Given the description of an element on the screen output the (x, y) to click on. 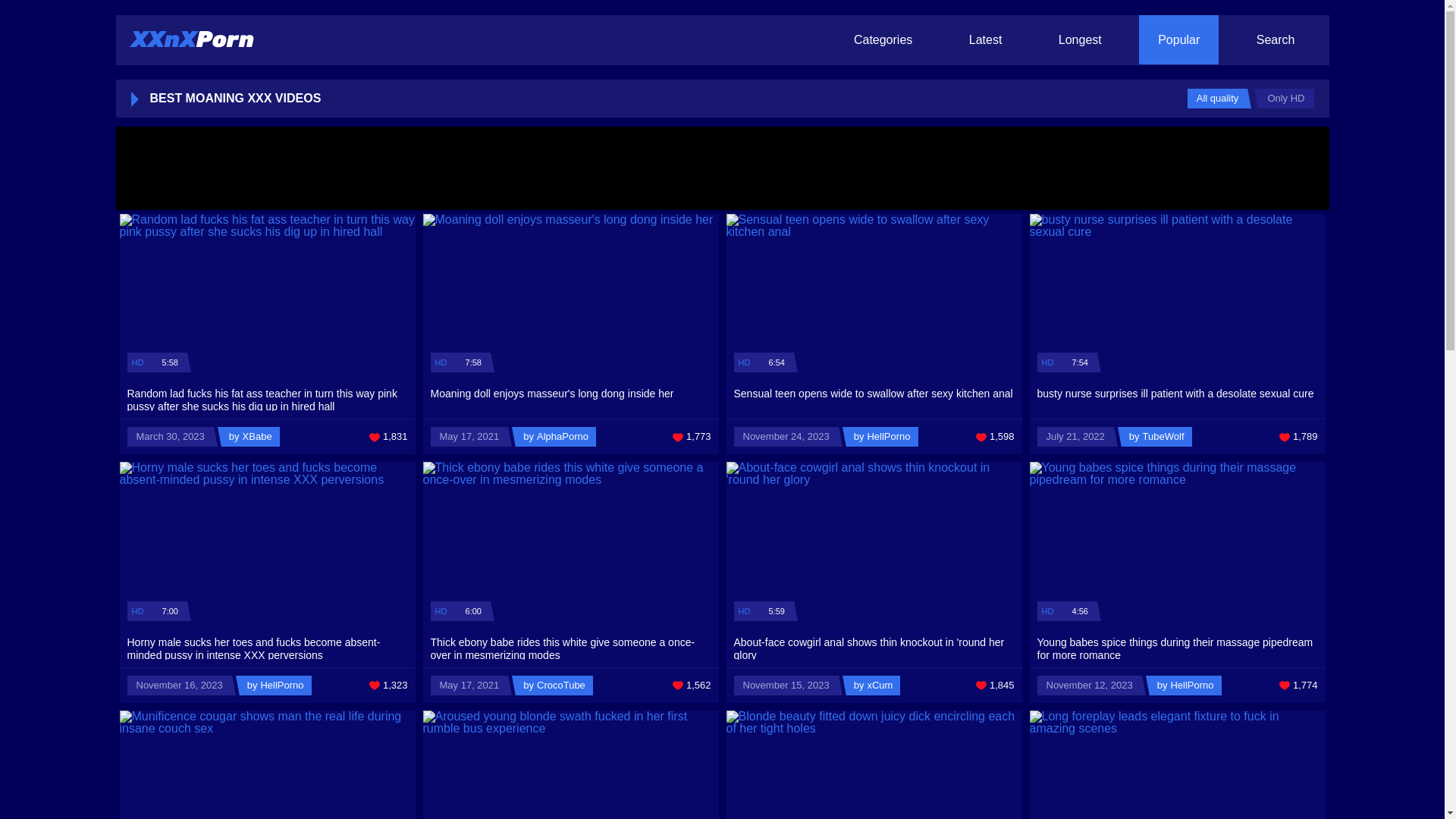
Longest Element type: text (1079, 39)
HD 5:59 Element type: text (874, 544)
AlphaPorno Element type: text (555, 436)
Moaning doll enjoys masseur's long dong inside her Element type: text (570, 395)
Search Element type: text (1275, 39)
HD 5:58 Element type: text (267, 296)
HD 7:54 Element type: text (1177, 296)
HD 4:56 Element type: text (1177, 544)
Only HD Element type: text (1285, 97)
HellPorno Element type: text (275, 684)
xCum Element type: text (873, 684)
HD 7:58 Element type: text (570, 296)
XBabe Element type: text (250, 436)
Popular Element type: text (1178, 39)
Categories Element type: text (882, 39)
HellPorno Element type: text (1185, 684)
HellPorno Element type: text (881, 436)
XXnXPorn Element type: text (191, 39)
All quality Element type: text (1217, 97)
HD 6:54 Element type: text (874, 296)
HD 7:00 Element type: text (267, 544)
Latest Element type: text (985, 39)
HD 6:00 Element type: text (570, 544)
Sensual teen opens wide to swallow after sexy kitchen anal Element type: text (874, 395)
CrocoTube Element type: text (554, 684)
TubeWolf Element type: text (1156, 436)
